Given the description of an element on the screen output the (x, y) to click on. 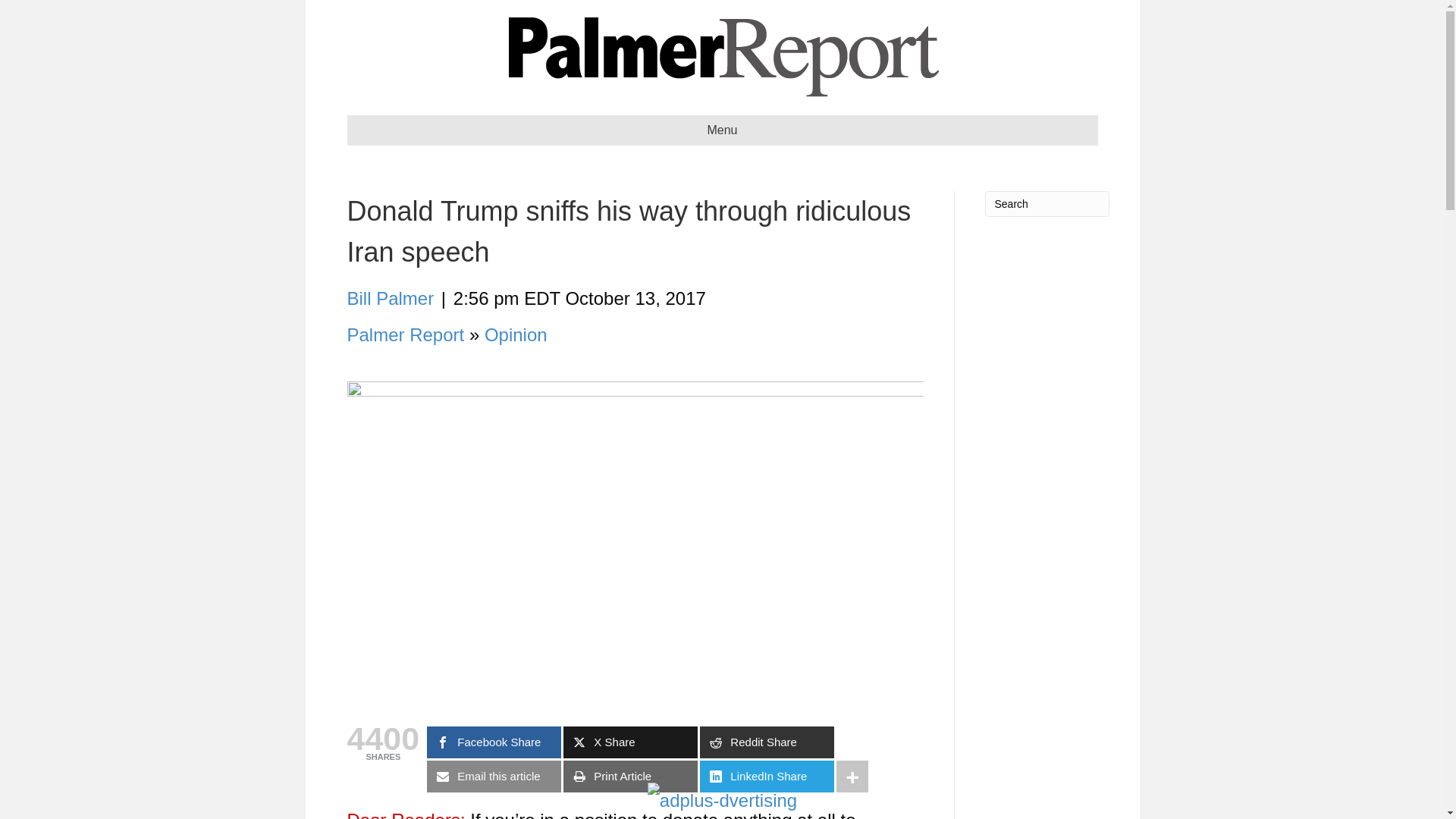
Print Article (630, 776)
Facebook Share (493, 742)
Search (1046, 203)
Type and press Enter to search. (1046, 203)
Search (1046, 203)
Email this article (493, 776)
Opinion (515, 334)
Posts by Bill Palmer (390, 298)
X Share (630, 742)
Bill Palmer (390, 298)
Palmer Report (405, 334)
Reddit Share (767, 742)
LinkedIn Share (767, 776)
Menu (722, 130)
Ad.Plus Advertising (721, 800)
